Given the description of an element on the screen output the (x, y) to click on. 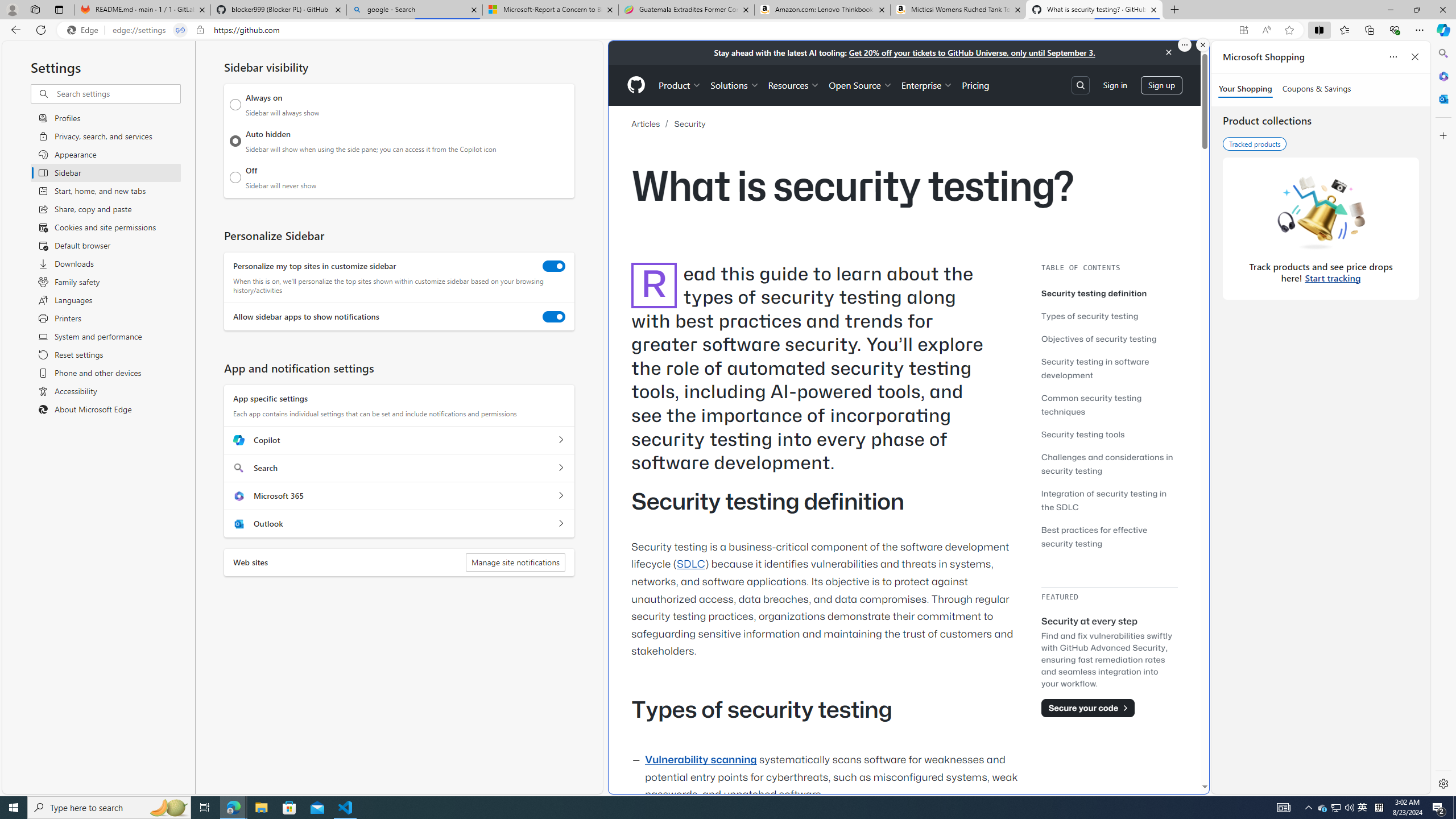
Common security testing techniques (1109, 404)
